Given the description of an element on the screen output the (x, y) to click on. 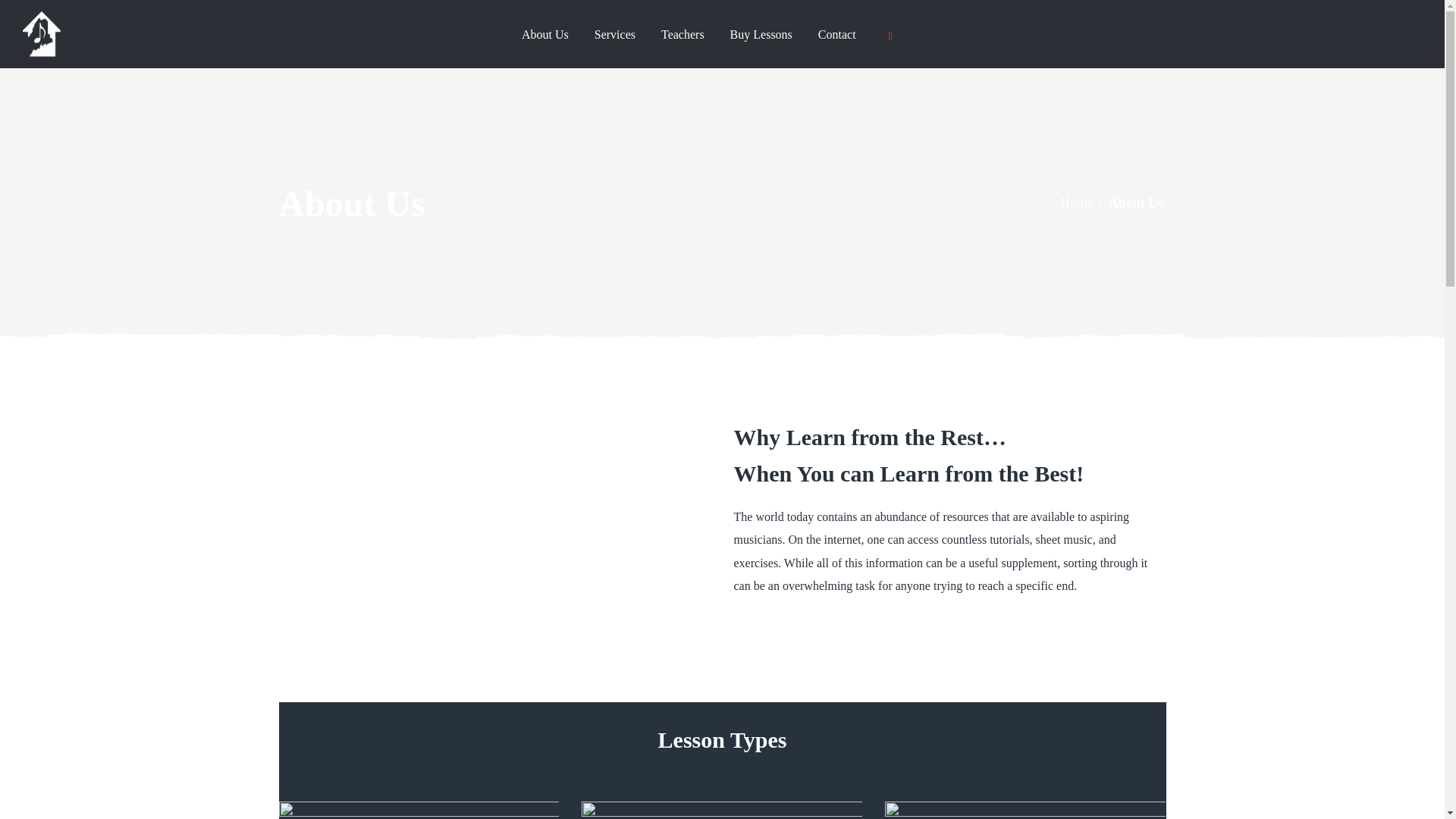
Buy Lessons (761, 34)
About Us (545, 34)
Musician playing on acoustic guitar (419, 810)
Teachers (682, 34)
Girl play the piano (720, 810)
Little guitarist (1025, 810)
